Given the description of an element on the screen output the (x, y) to click on. 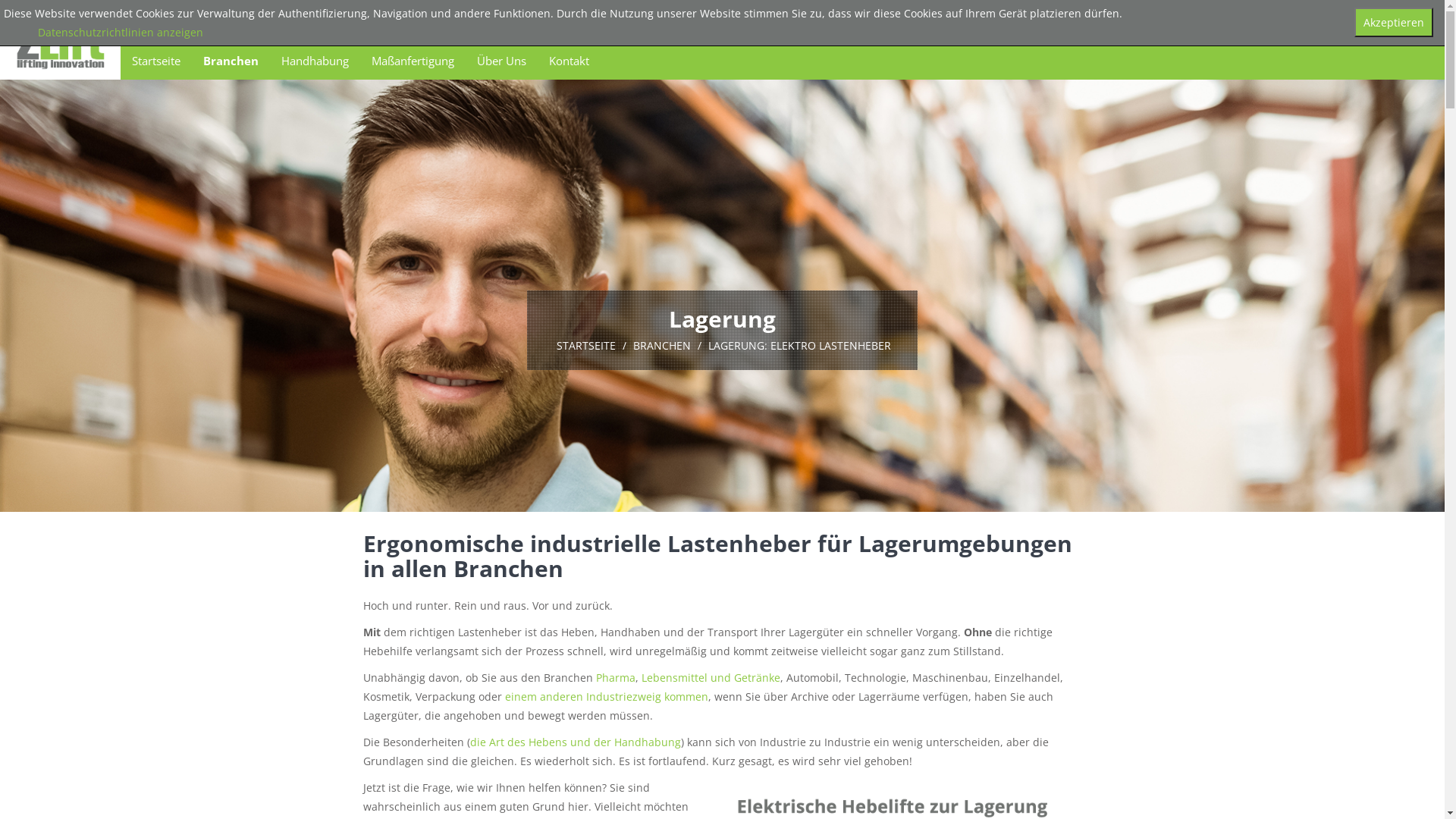
Pharma Element type: text (615, 677)
einem anderen Industriezweig kommen Element type: text (606, 696)
Branchen Element type: text (230, 60)
Kontakt Element type: text (568, 60)
Akzeptieren Element type: text (1393, 22)
BRANCHEN Element type: text (661, 345)
die Art des Hebens und der Handhabung Element type: text (575, 741)
Handhabung Element type: text (314, 60)
Startseite Element type: text (155, 60)
STARTSEITE Element type: text (585, 345)
Datenschutzrichtlinien anzeigen Element type: text (120, 32)
